Given the description of an element on the screen output the (x, y) to click on. 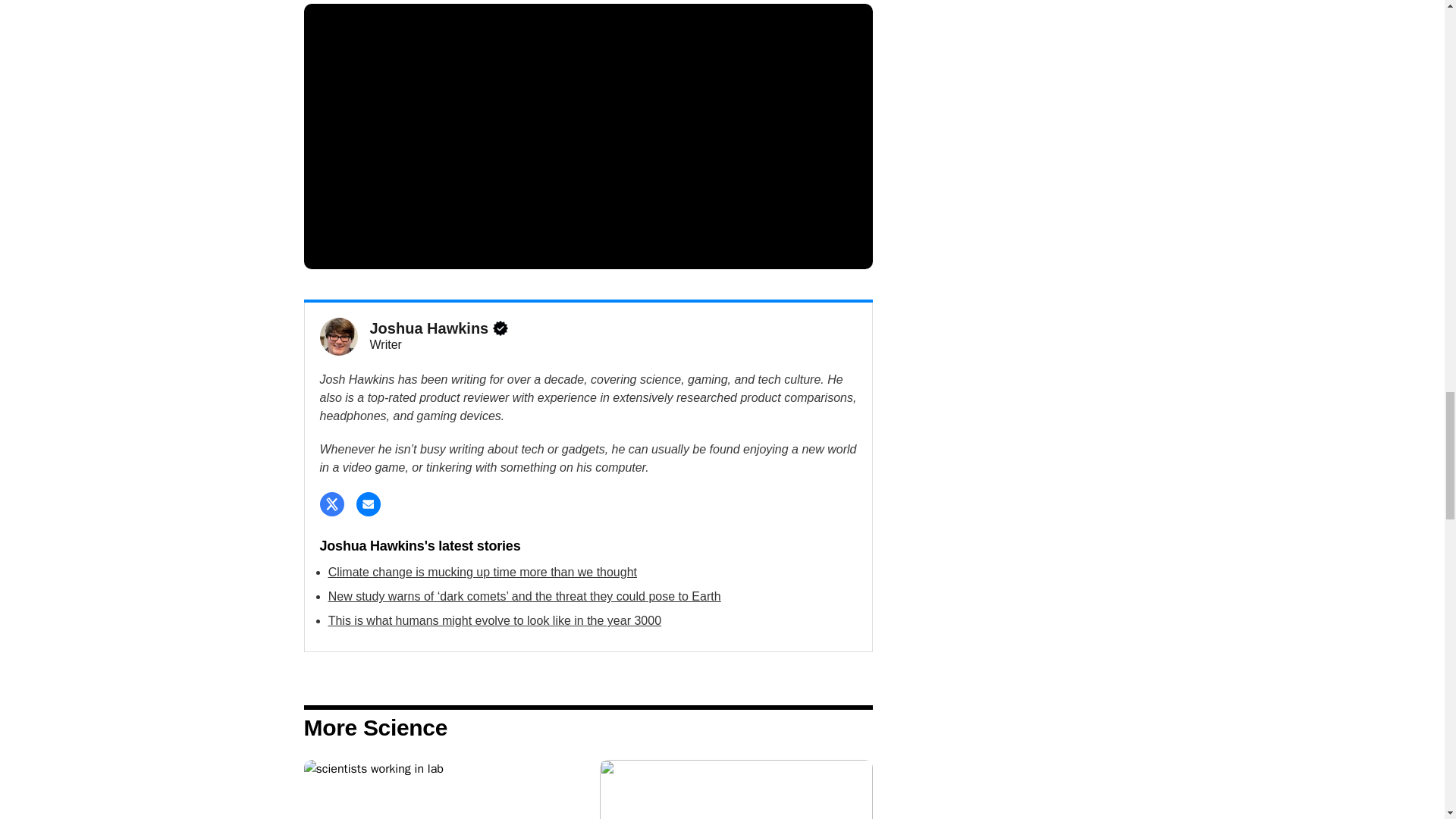
Diabetes Cure (439, 789)
preventative HIV drug (735, 789)
